Given the description of an element on the screen output the (x, y) to click on. 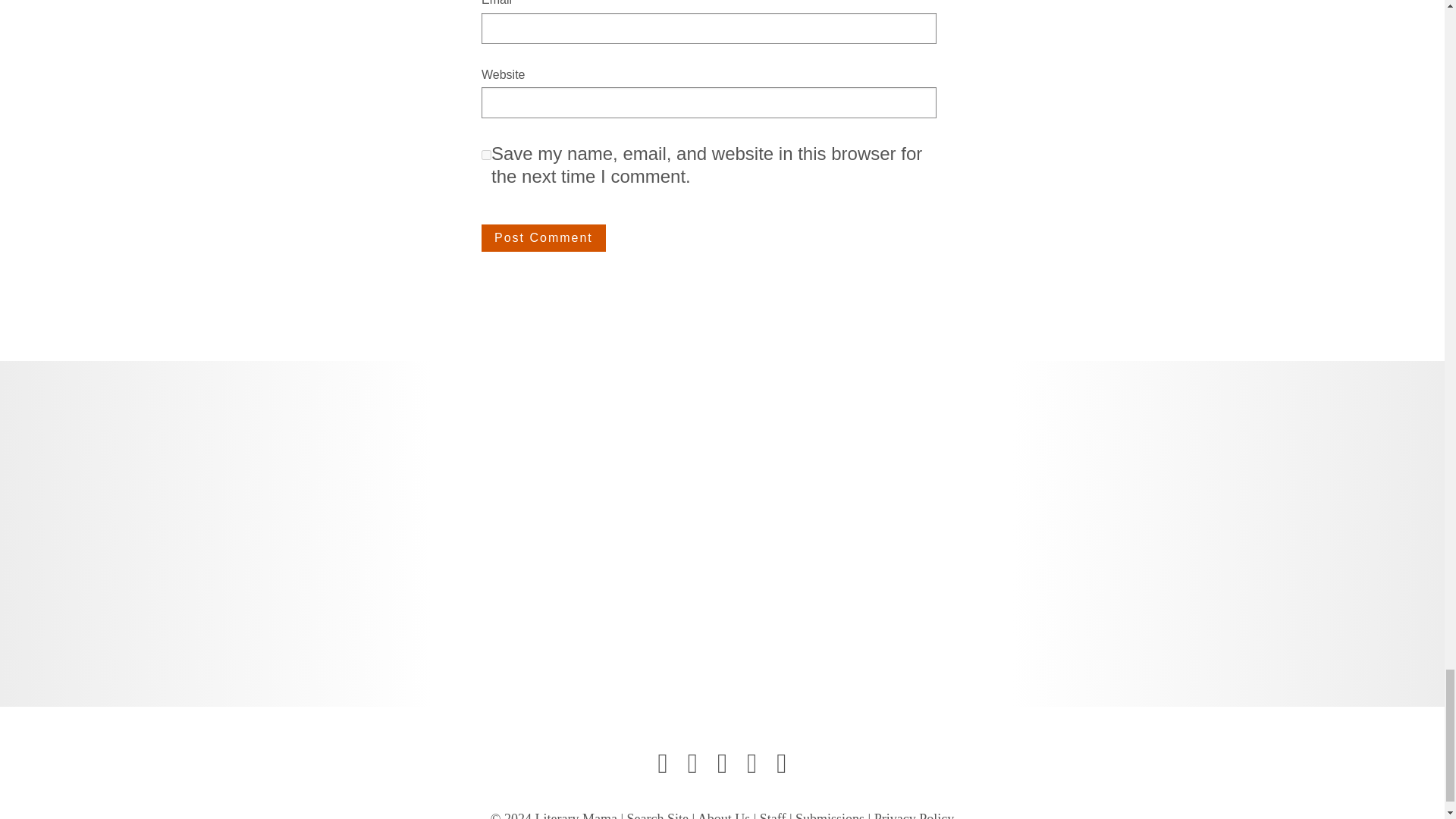
About Us (724, 815)
Post Comment (543, 237)
yes (486, 154)
Post Comment (543, 237)
Search Site (657, 815)
